Given the description of an element on the screen output the (x, y) to click on. 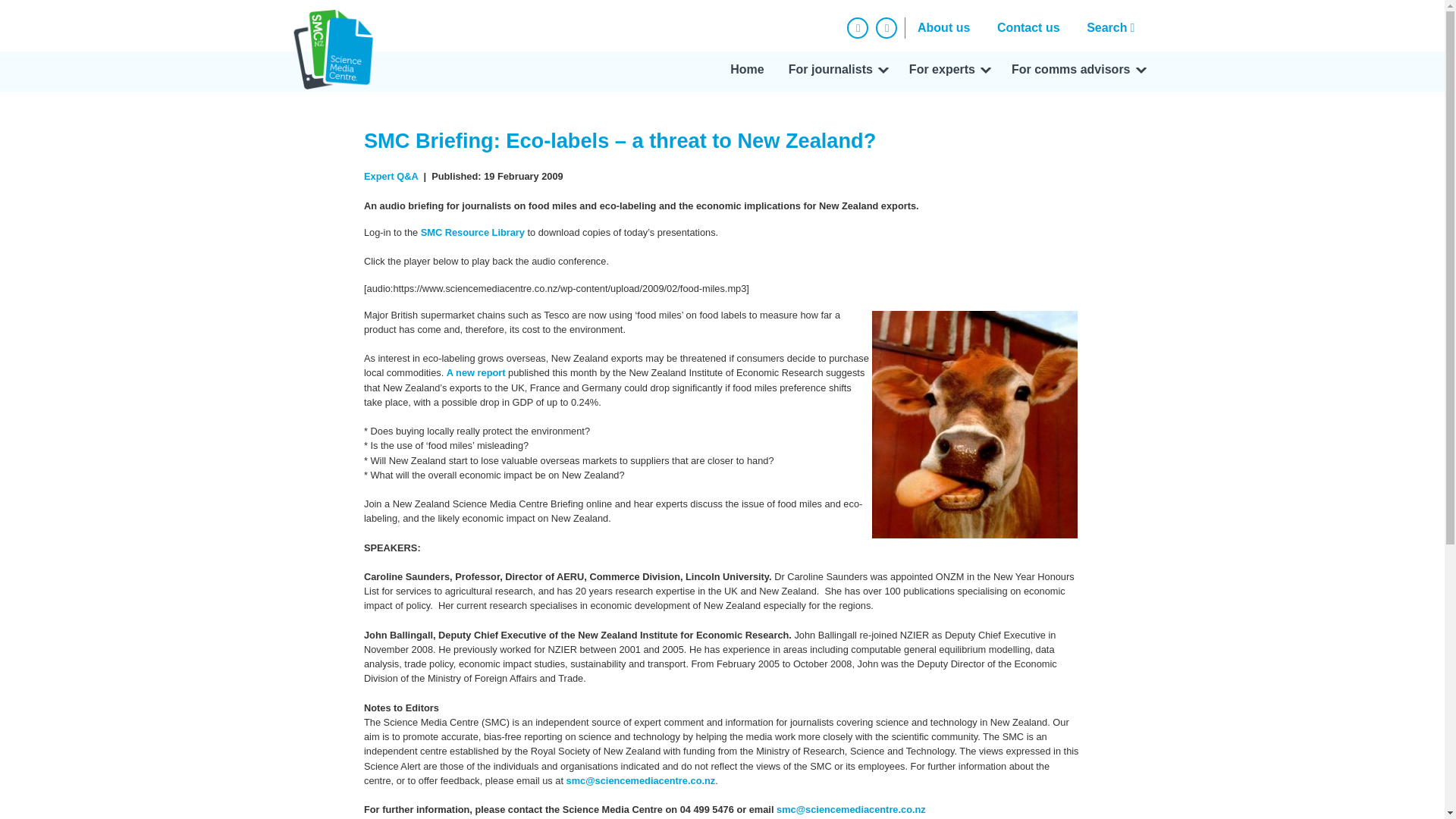
For comms advisors (1076, 71)
About us (943, 27)
Facebook (857, 27)
For journalists (836, 71)
Twitter (886, 27)
cow (974, 424)
For experts (947, 71)
Search (1114, 27)
Home (746, 71)
Contact us (1028, 27)
